Given the description of an element on the screen output the (x, y) to click on. 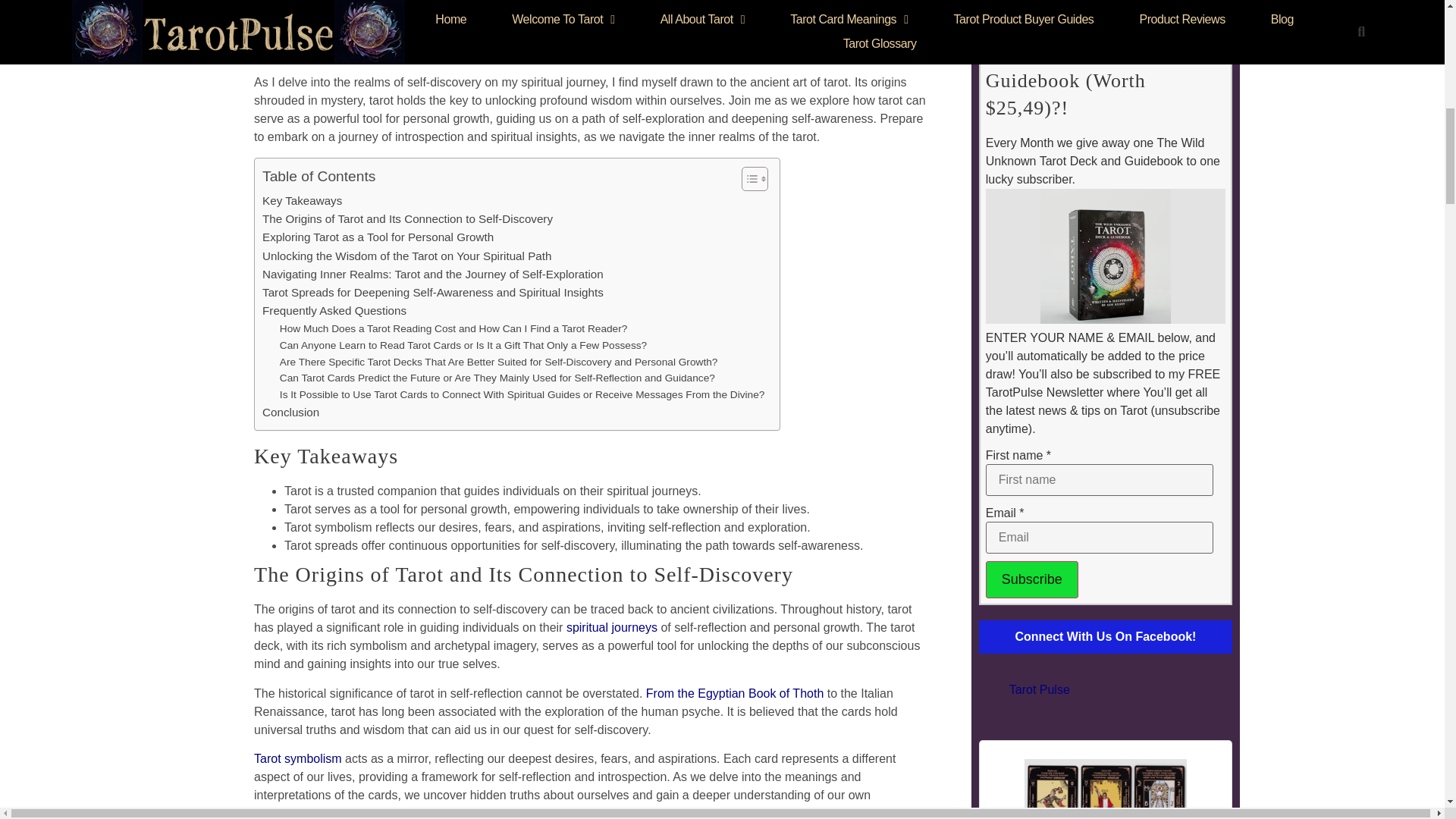
Key Takeaways (302, 200)
Subscribe (1031, 579)
Conclusion (290, 412)
Exploring Tarot as a Tool for Personal Growth (377, 237)
The Origins of Tarot and Its Connection to Self-Discovery (407, 218)
Unlocking the Wisdom of the Tarot on Your Spiritual Path (406, 256)
Frequently Asked Questions (334, 311)
